Given the description of an element on the screen output the (x, y) to click on. 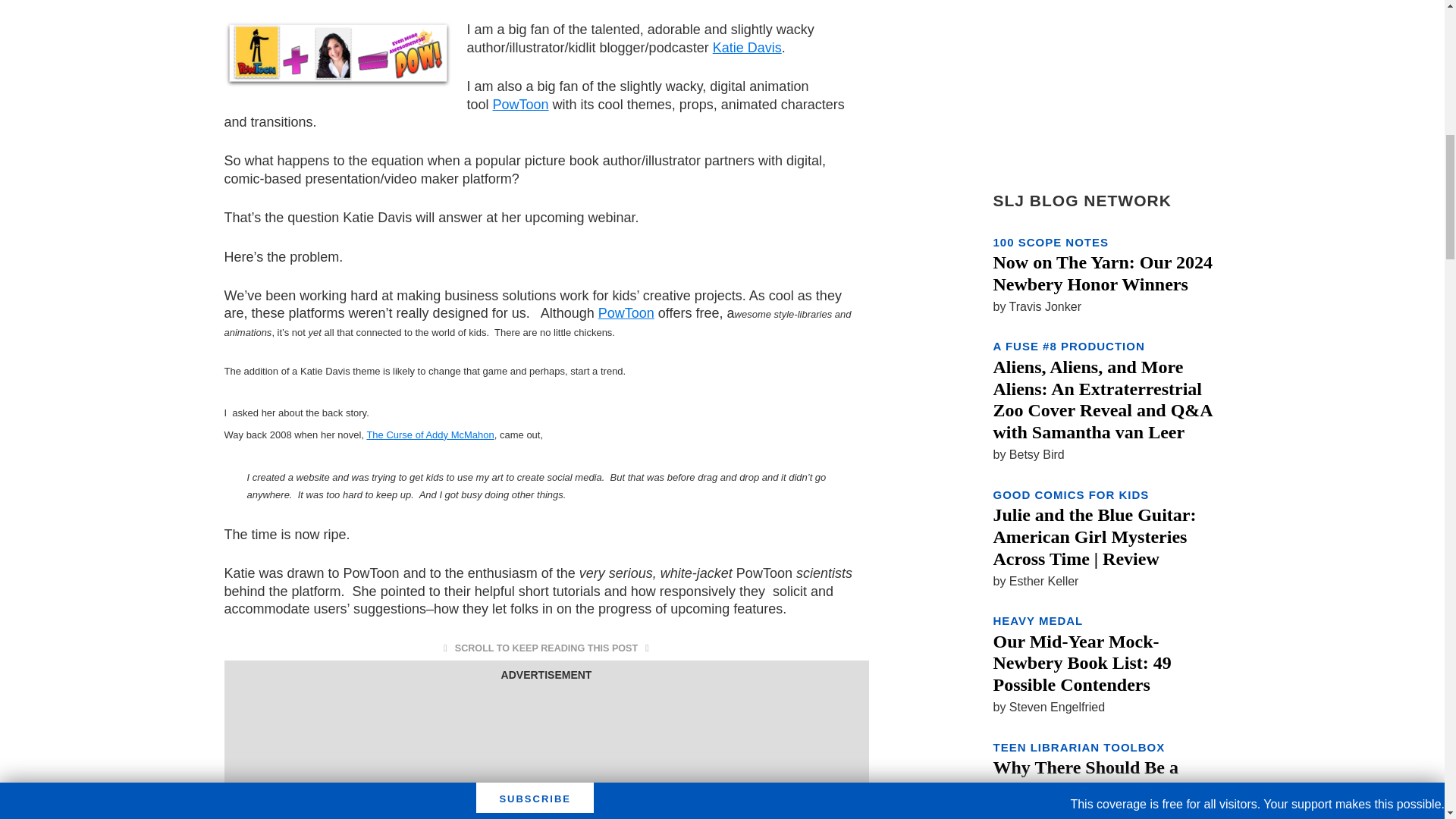
3rd party ad content (545, 752)
SCROLL TO KEEP READING THIS POST (546, 648)
katiepow (337, 54)
3rd party ad content (1106, 76)
